Given the description of an element on the screen output the (x, y) to click on. 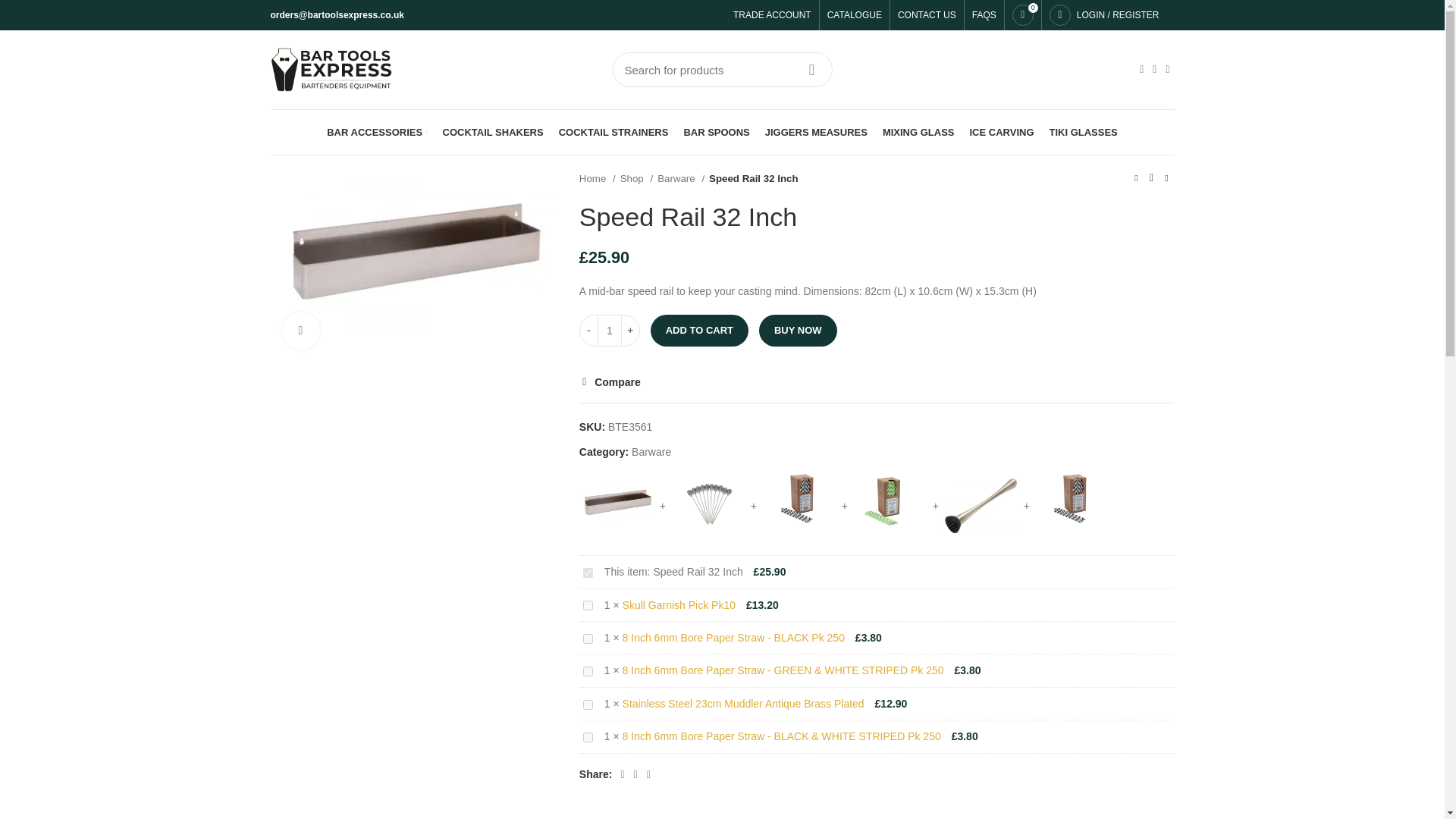
TIKI GLASSES (1083, 132)
15309 (587, 737)
15308 (587, 638)
on (587, 573)
BAR ACCESSORIES (375, 132)
Speed Rail 32 Inch (412, 263)
Barware (681, 178)
15330 (587, 605)
15275 (587, 705)
COCKTAIL SHAKERS (493, 132)
